Given the description of an element on the screen output the (x, y) to click on. 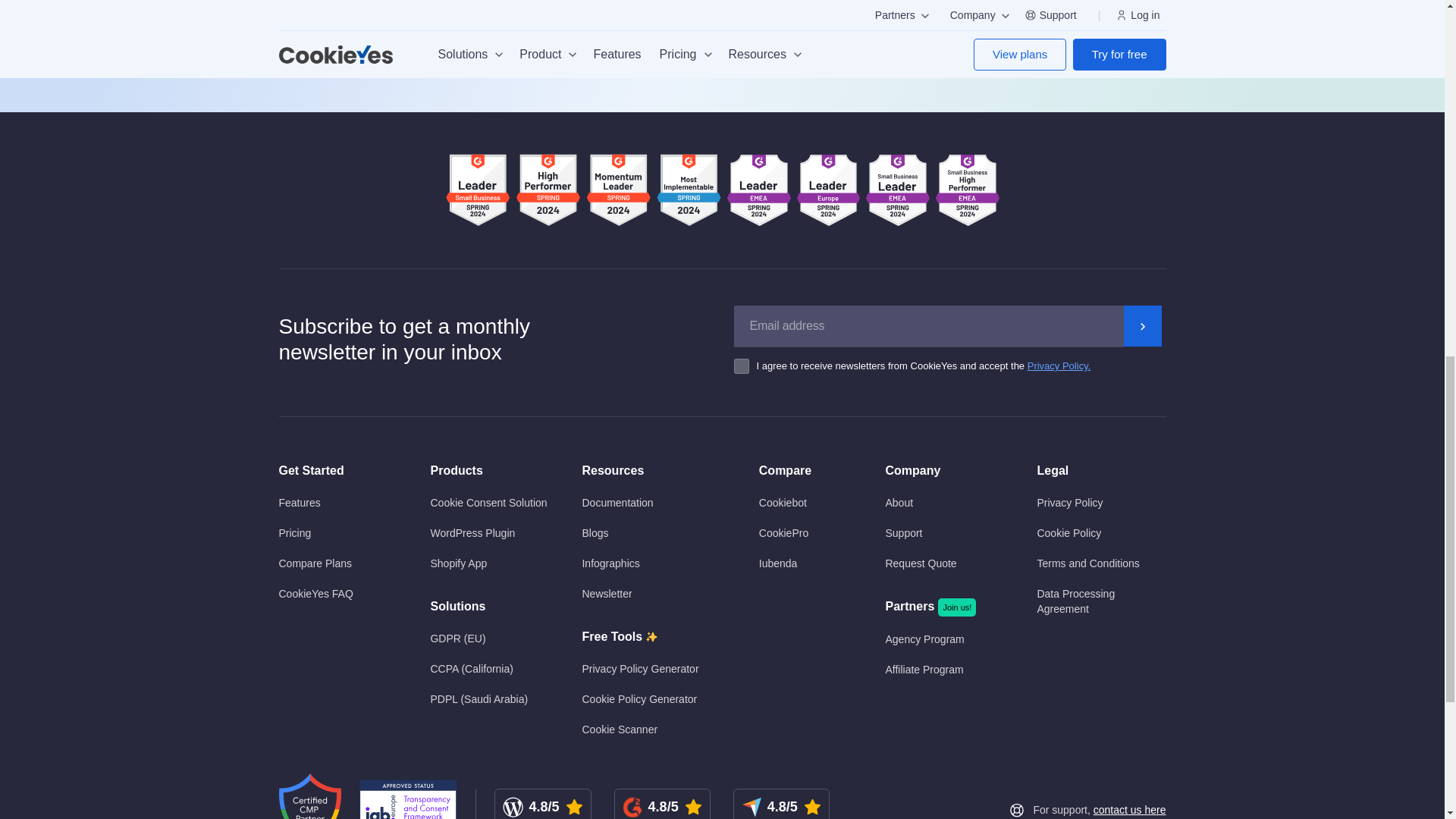
on (745, 365)
